Given the description of an element on the screen output the (x, y) to click on. 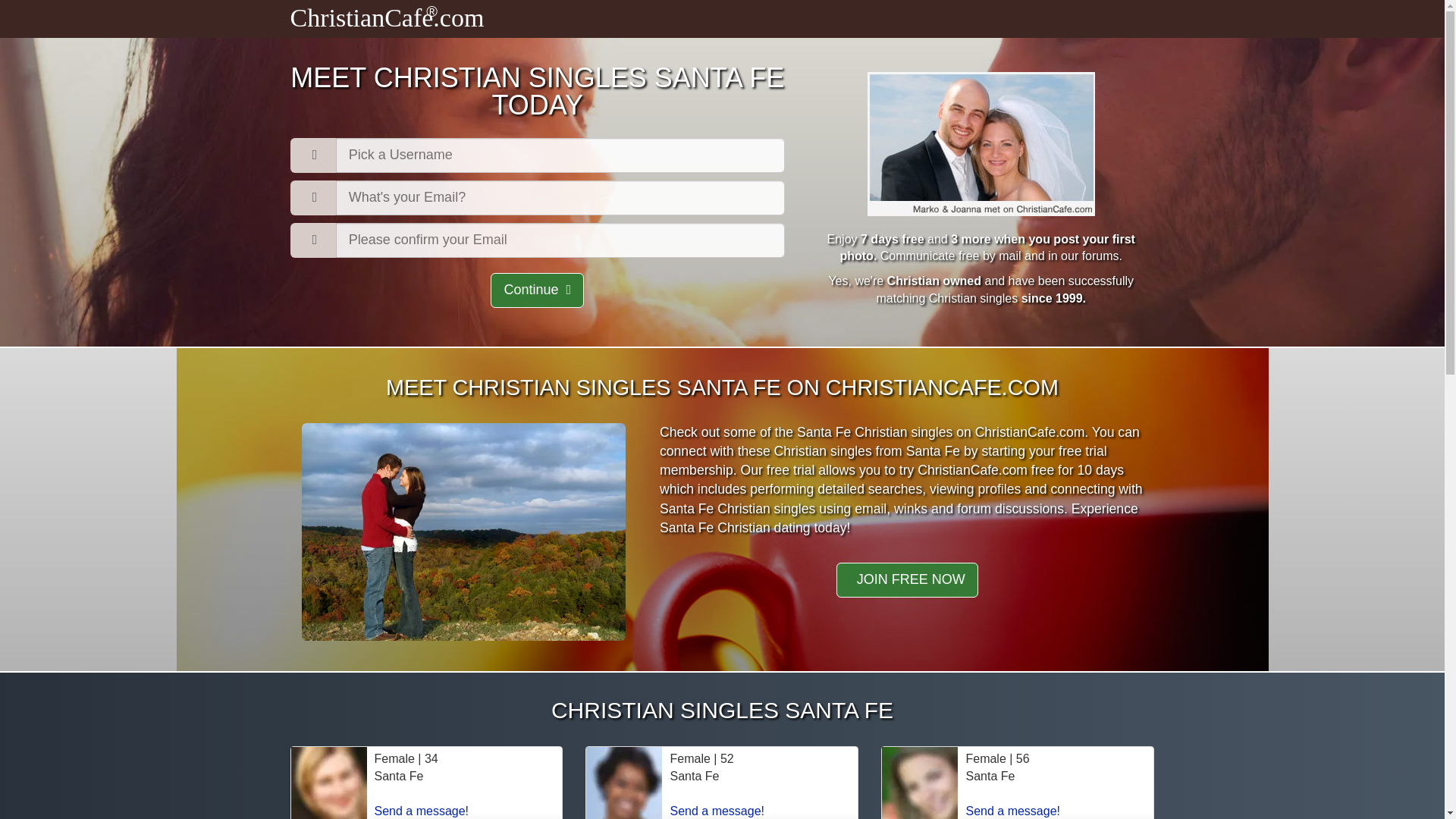
ChristianCafe.com (386, 21)
Continue   (536, 289)
Send a message! (716, 810)
 JOIN FREE NOW (906, 579)
Send a message! (421, 810)
Send a message! (1012, 810)
